Given the description of an element on the screen output the (x, y) to click on. 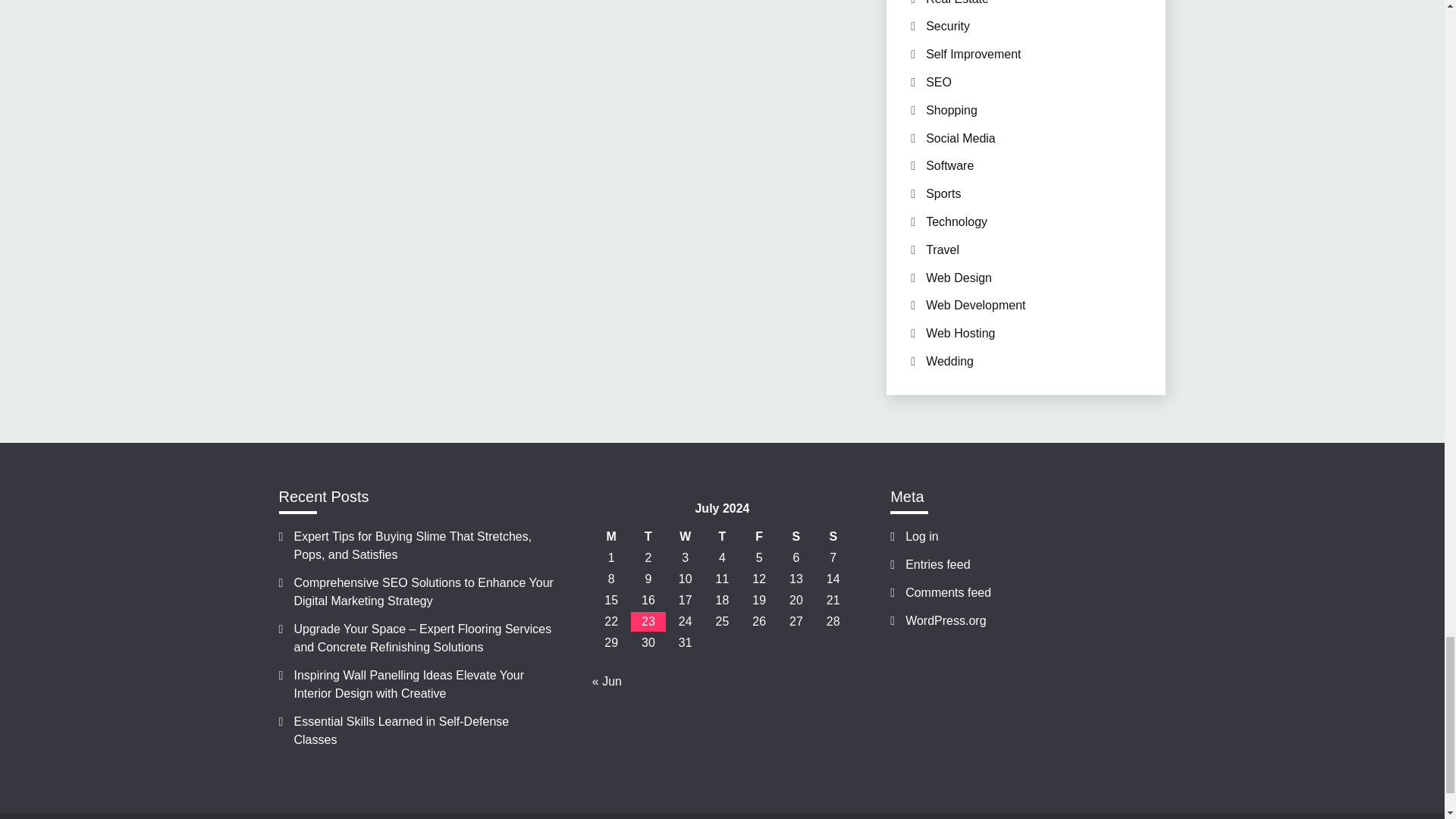
Sunday (832, 537)
Friday (759, 537)
Thursday (721, 537)
Saturday (795, 537)
Monday (611, 537)
Tuesday (648, 537)
Wednesday (684, 537)
